Given the description of an element on the screen output the (x, y) to click on. 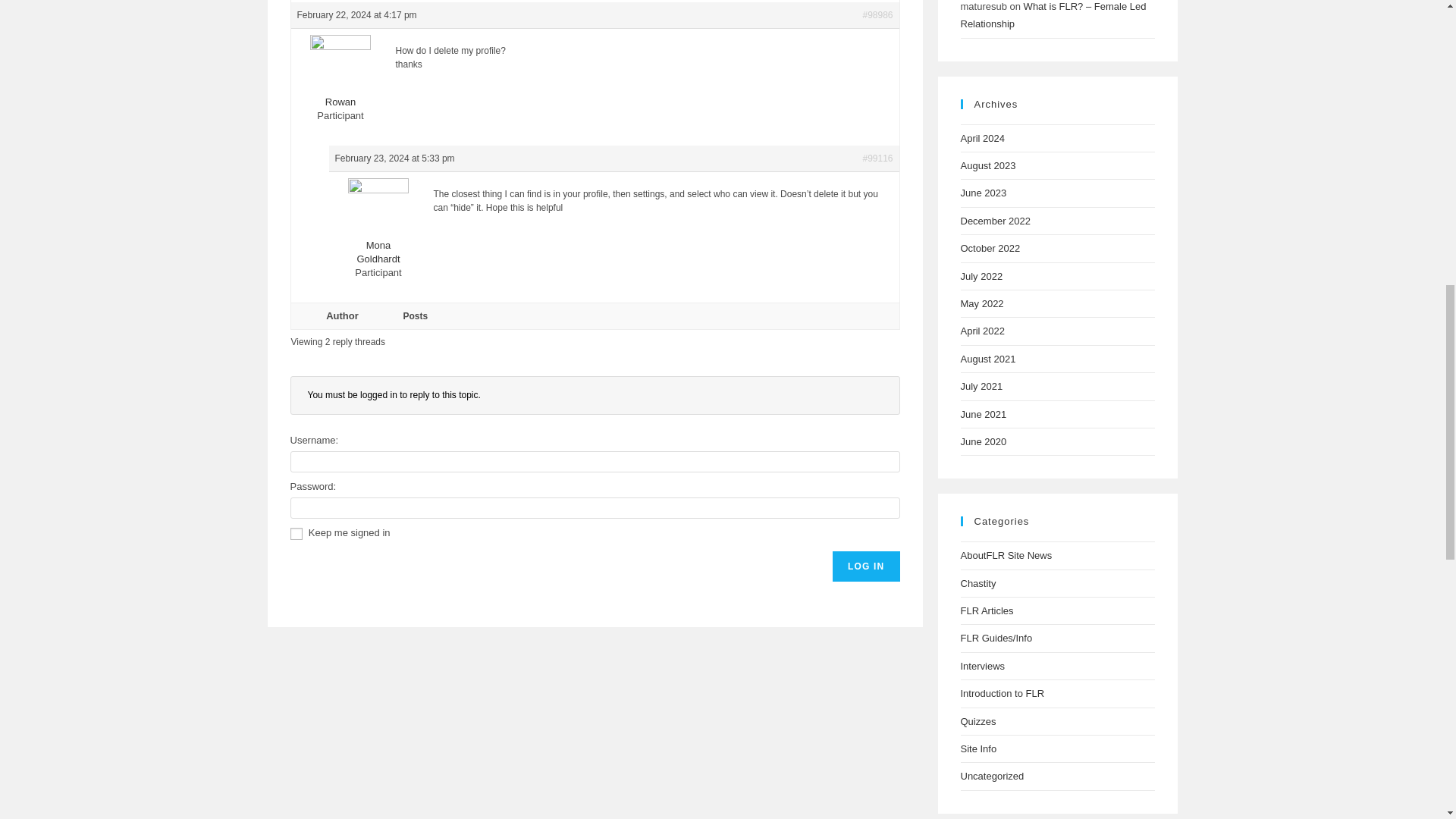
View Rowan's profile (340, 83)
View Mona Goldhardt's profile (378, 234)
forever (295, 533)
